Given the description of an element on the screen output the (x, y) to click on. 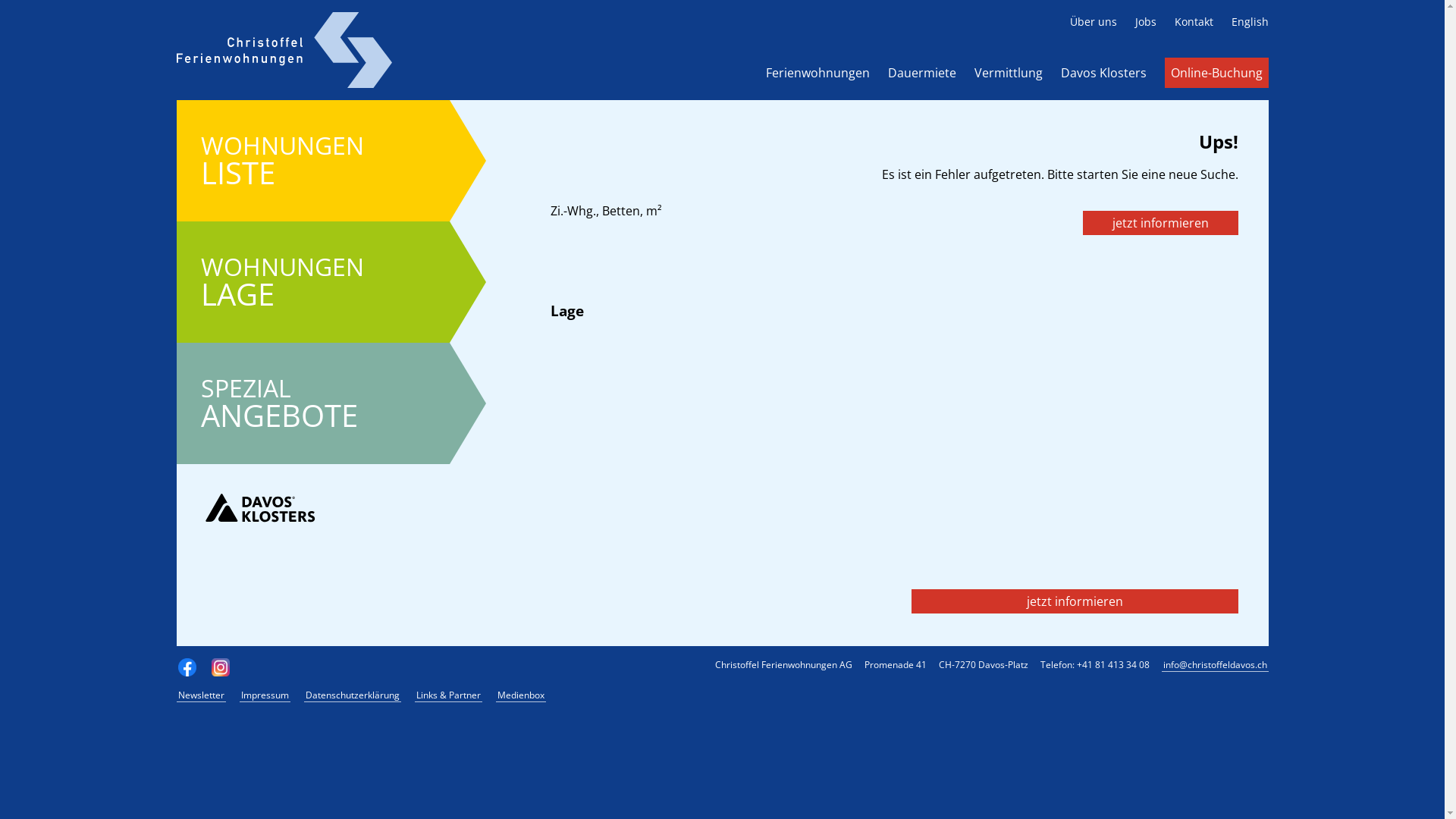
SPEZIAL
ANGEBOTE Element type: text (311, 403)
WOHNUNGEN
LISTE Element type: text (311, 160)
info@christoffeldavos.ch Element type: text (1214, 664)
Impressum Element type: text (264, 695)
Dauermiete Element type: text (921, 72)
Newsletter Element type: text (200, 695)
jetzt informieren Element type: text (1160, 222)
Ferienwohnungen Element type: text (817, 72)
Links & Partner Element type: text (447, 695)
Davos Klosters Element type: text (1102, 72)
Jobs Element type: text (1144, 21)
Medienbox Element type: text (520, 695)
Online-Buchung Element type: text (1216, 72)
Kontakt Element type: text (1192, 21)
English Element type: text (1249, 21)
WOHNUNGEN
LAGE Element type: text (311, 281)
jetzt informieren Element type: text (1074, 601)
Vermittlung Element type: text (1007, 72)
